Given the description of an element on the screen output the (x, y) to click on. 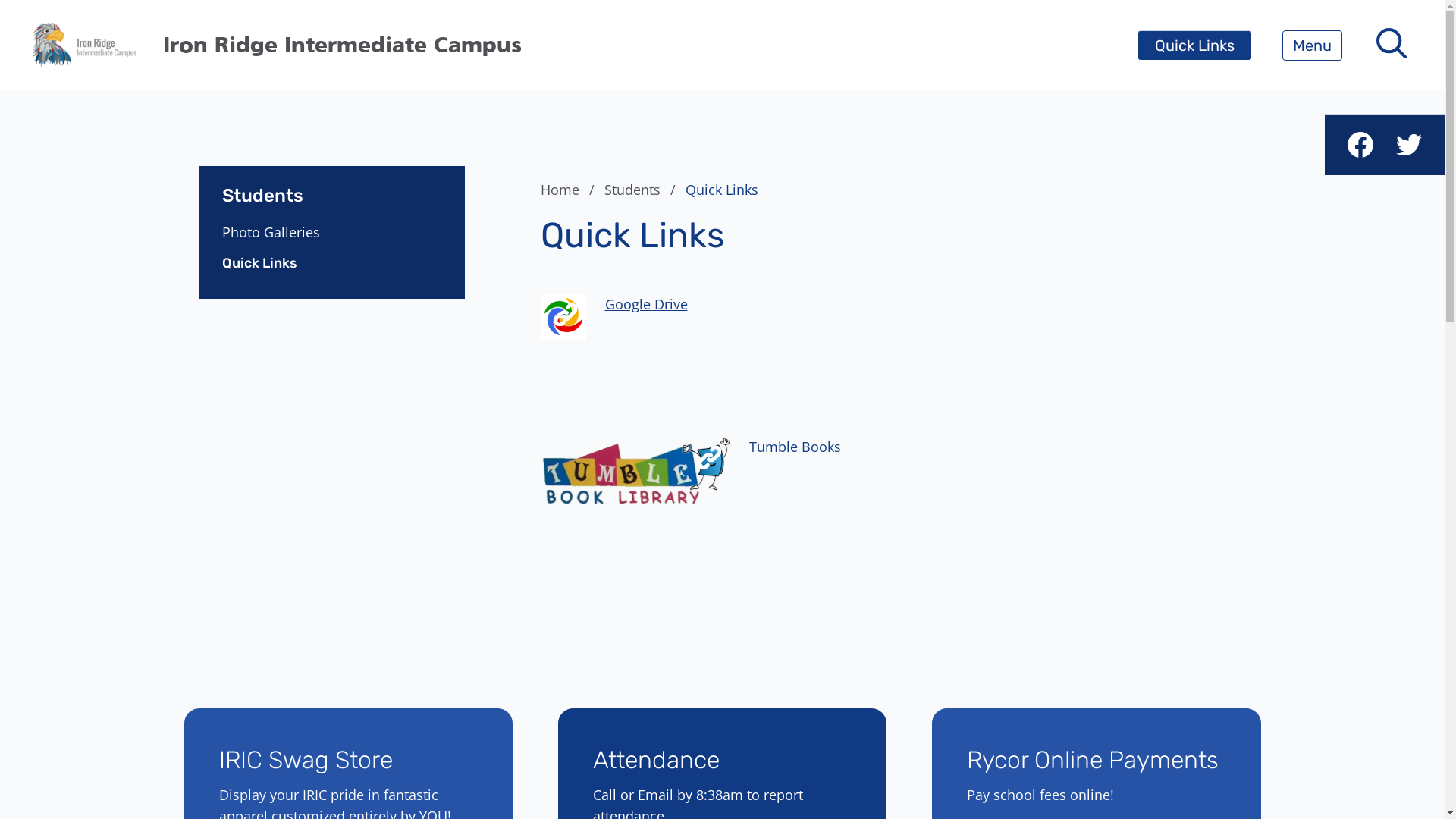
Quick Links Element type: text (287, 262)
Tumble Books Element type: text (794, 446)
Menu Element type: text (1312, 45)
Photo Galleries Element type: text (287, 231)
Iron Ridge Intermediate Campus's Twitter Element type: hover (1408, 144)
home Element type: hover (83, 44)
Search Element type: text (45, 19)
Home Element type: text (569, 189)
Students Element type: text (641, 189)
Google Drive Element type: text (646, 303)
Quick Links Element type: text (1194, 45)
Students Element type: text (331, 186)
Iron Ridge Intermediate Campus's Facebook Element type: hover (1360, 144)
